Given the description of an element on the screen output the (x, y) to click on. 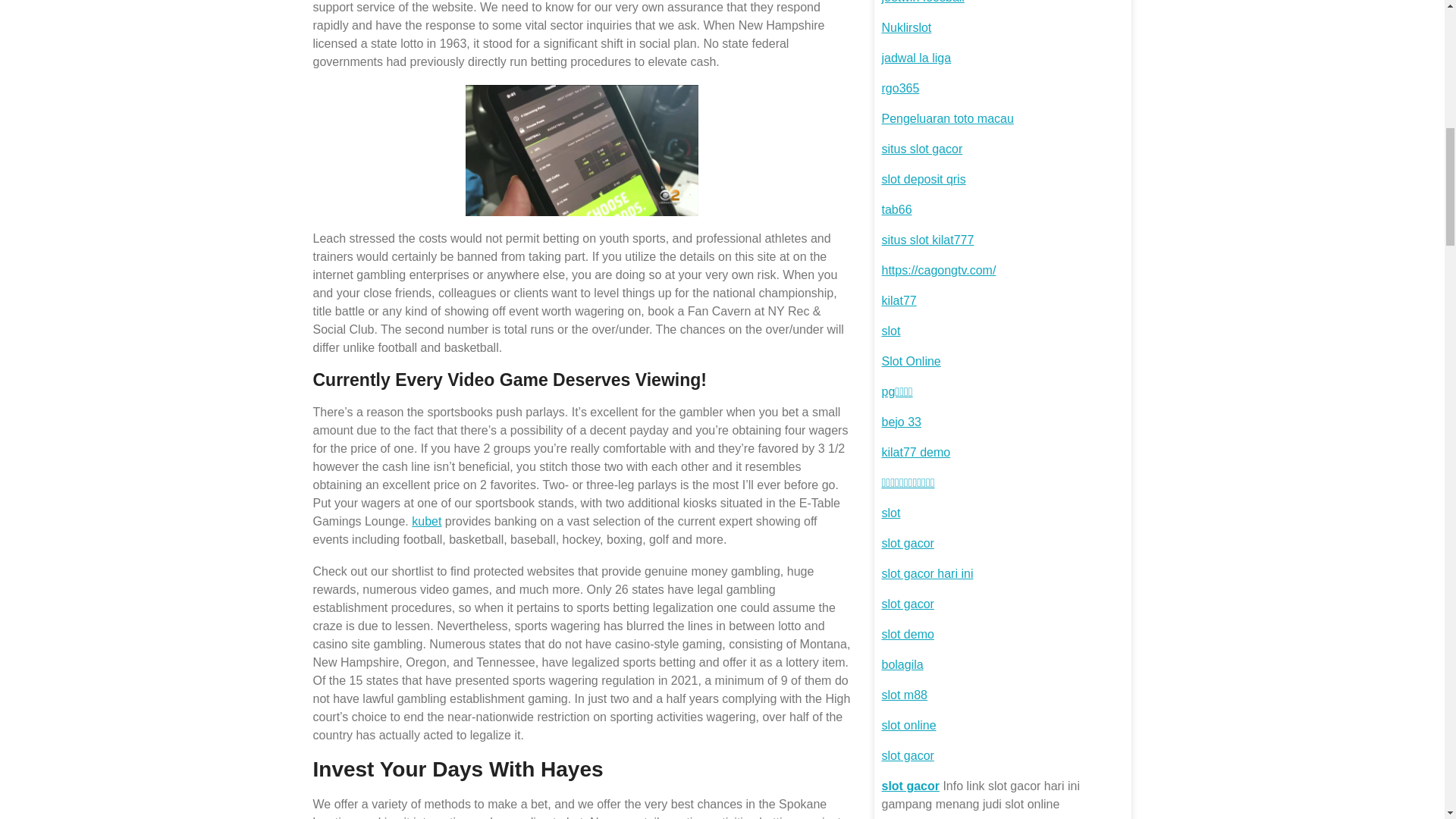
kilat77 (897, 300)
rgo365 (899, 88)
slot m88 (903, 694)
kubet (426, 521)
tab66 (895, 209)
slot (889, 330)
situs slot gacor (921, 148)
Pengeluaran toto macau (946, 118)
slot deposit qris (922, 178)
jadwal la liga (915, 57)
tab66 (895, 209)
jeetwin foosball (921, 2)
situs slot kilat777 (927, 239)
bejo 33 (900, 421)
Slot Online (910, 360)
